Given the description of an element on the screen output the (x, y) to click on. 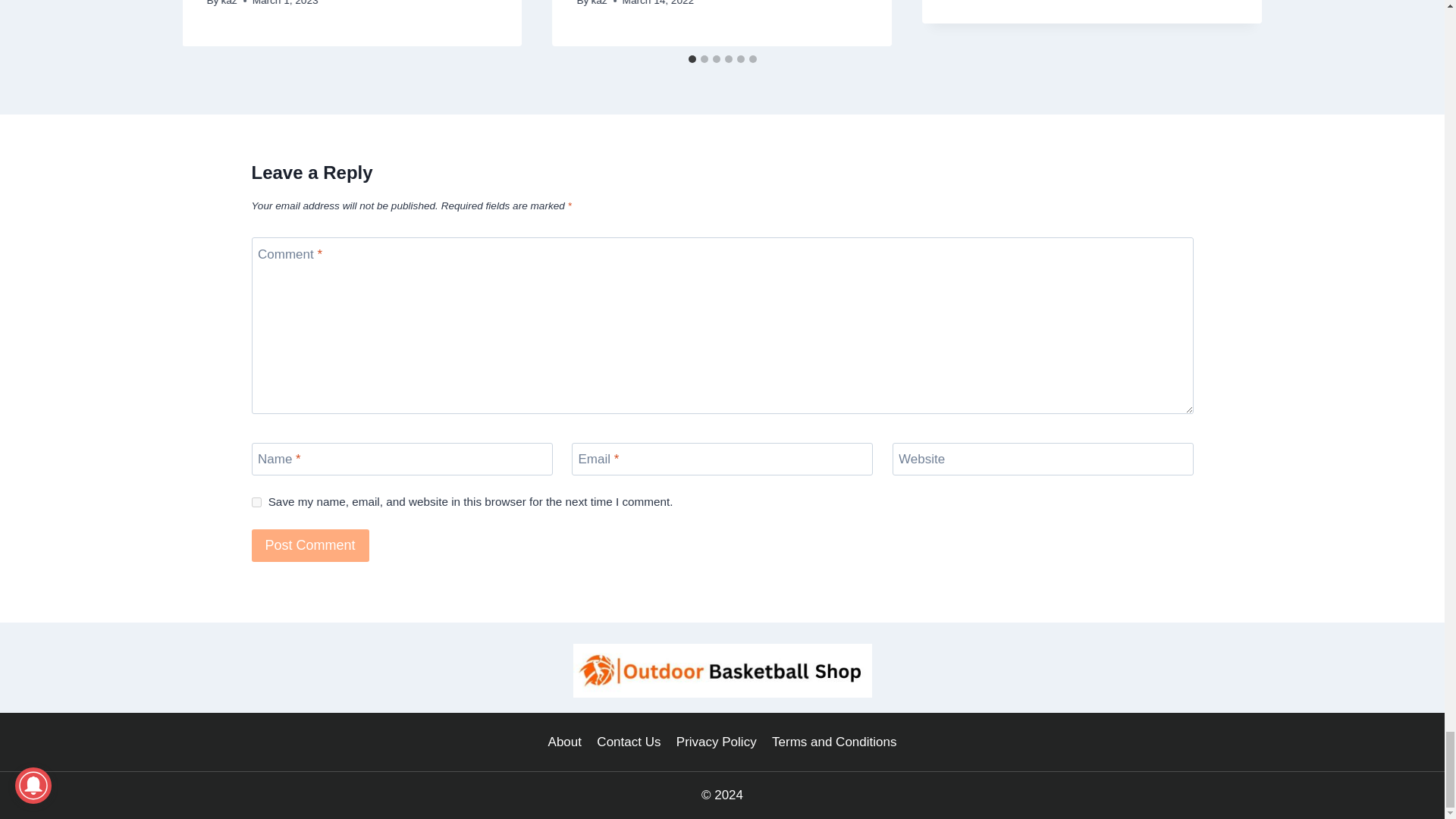
yes (256, 501)
Post Comment (310, 545)
